Given the description of an element on the screen output the (x, y) to click on. 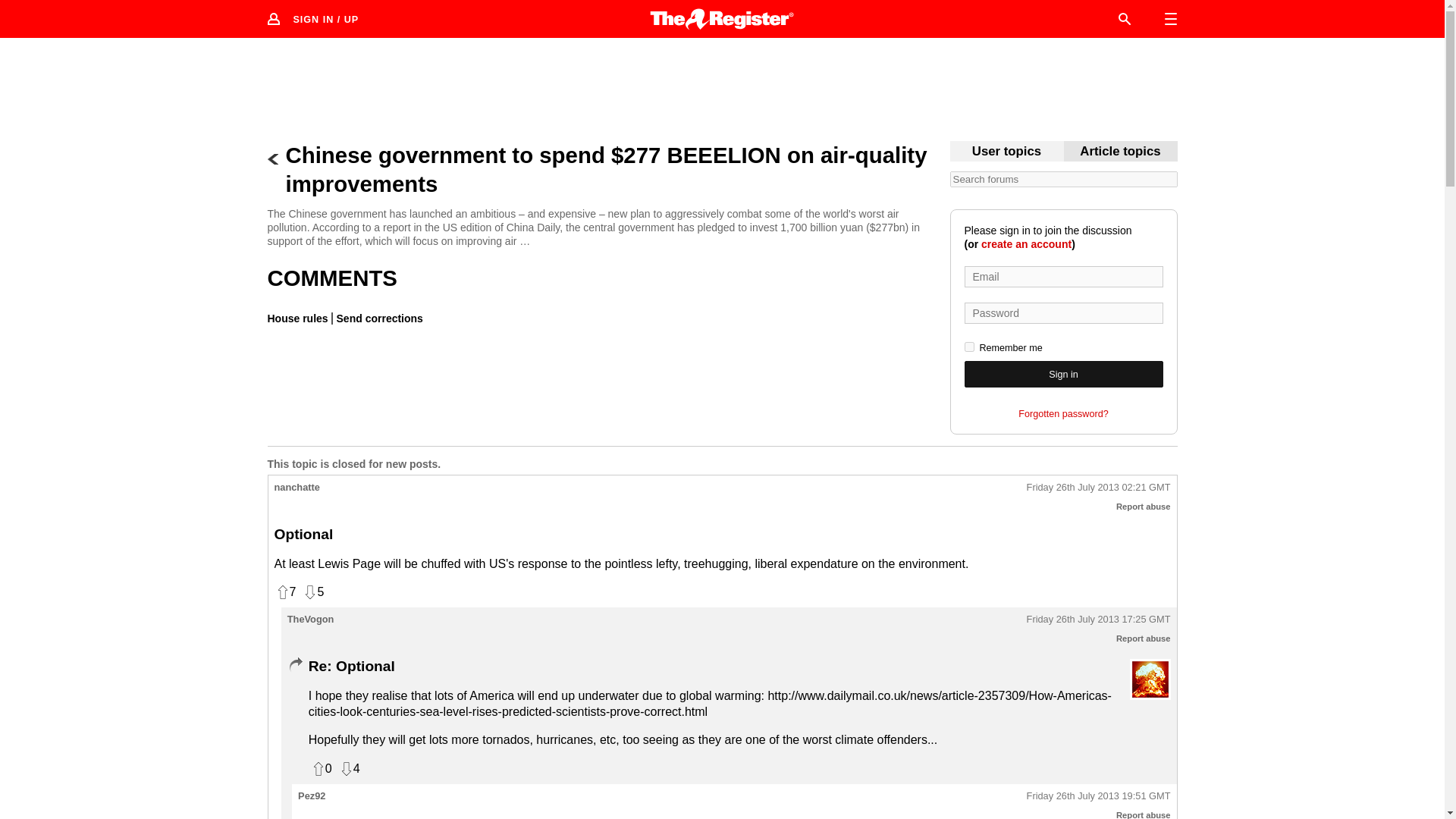
Commentards, Commentards, Commentards (1006, 151)
Spotted an error? Let us know. (377, 318)
For corrections, please use link below article copy, kthxbye (1120, 151)
Permalink to this post (1098, 619)
Inappropriate post? Report it to our moderators (1143, 637)
Dislike this post? Vote it down! (312, 591)
Permalink to this post (1098, 487)
yes (968, 347)
In reply to (294, 664)
Forgotten password? (1063, 413)
